Given the description of an element on the screen output the (x, y) to click on. 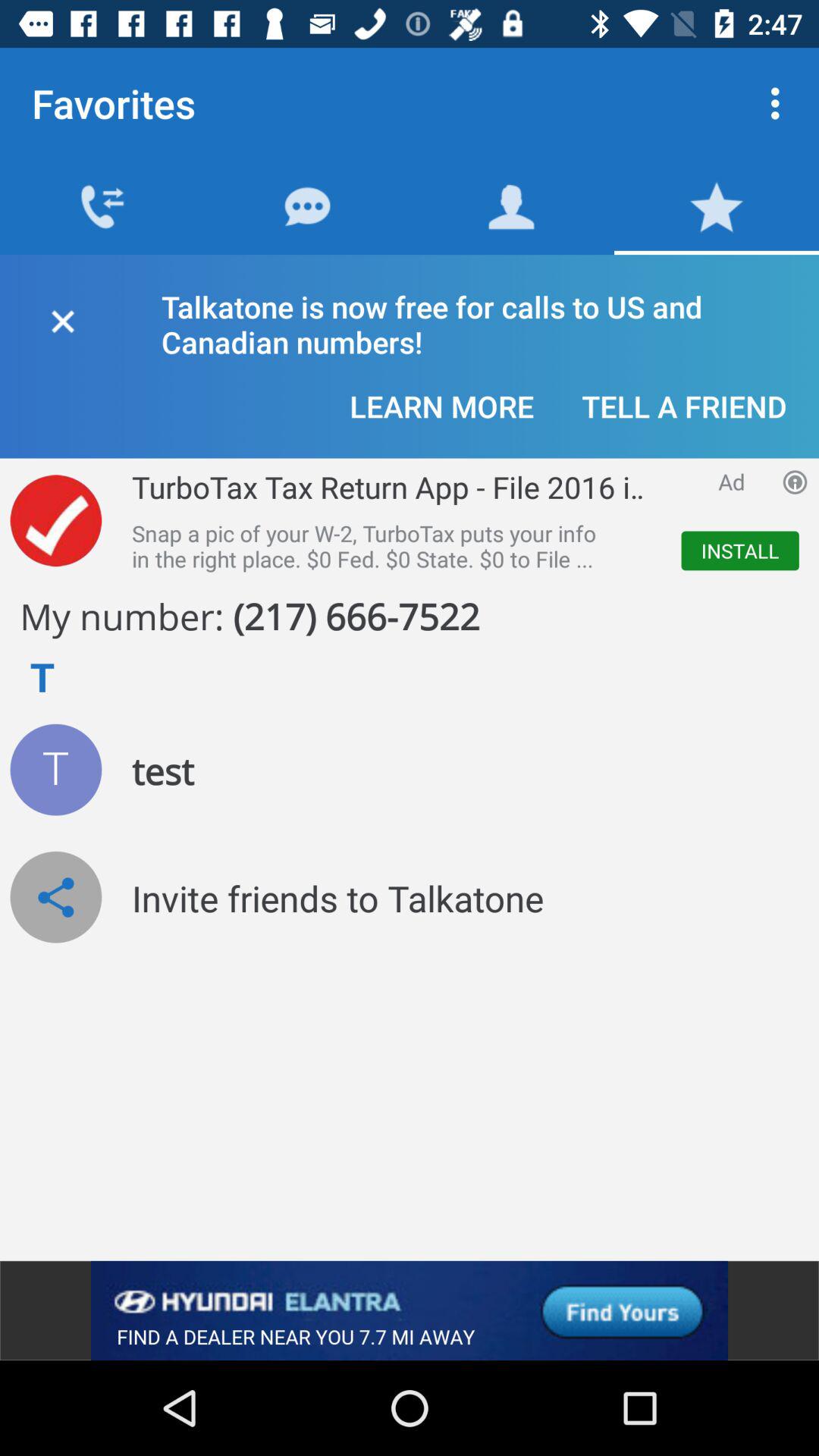
close window (62, 318)
